Given the description of an element on the screen output the (x, y) to click on. 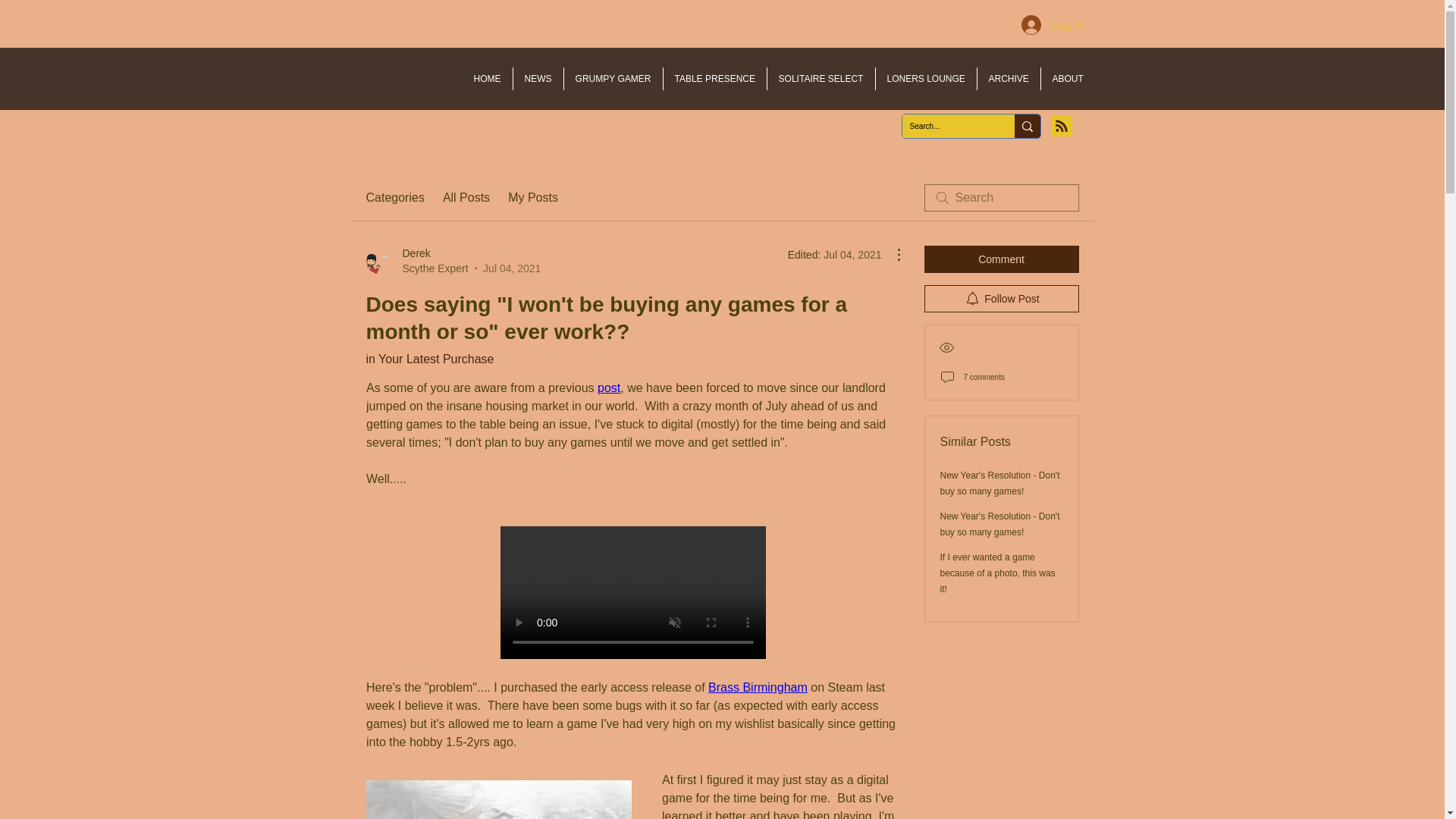
HOME (487, 78)
Brass Birmingham (757, 686)
ARCHIVE (1007, 78)
ABOUT (1067, 78)
My Posts (532, 198)
All Posts (465, 198)
TABLE PRESENCE (713, 78)
Log In (1052, 24)
in Your Latest Purchase (429, 358)
SOLITAIRE SELECT (821, 78)
GRUMPY GAMER (613, 78)
NEWS (537, 78)
Categories (394, 198)
LONERS LOUNGE (925, 78)
post (608, 387)
